Given the description of an element on the screen output the (x, y) to click on. 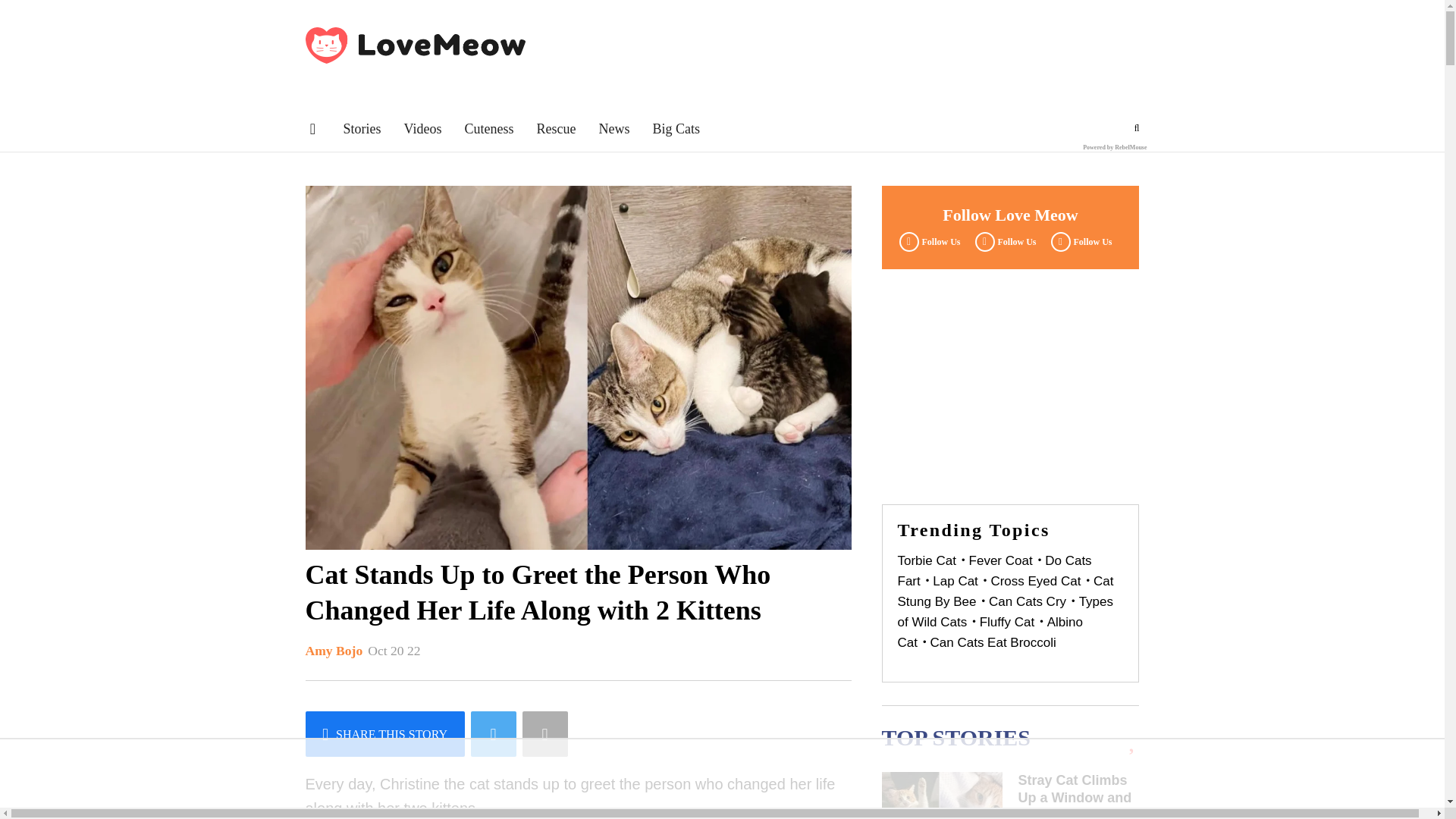
Cuteness (488, 128)
Best CMS (1115, 147)
Stories (361, 128)
Videos (423, 128)
Powered by RebelMouse (1115, 147)
Twitter (1003, 241)
News (613, 128)
